Given the description of an element on the screen output the (x, y) to click on. 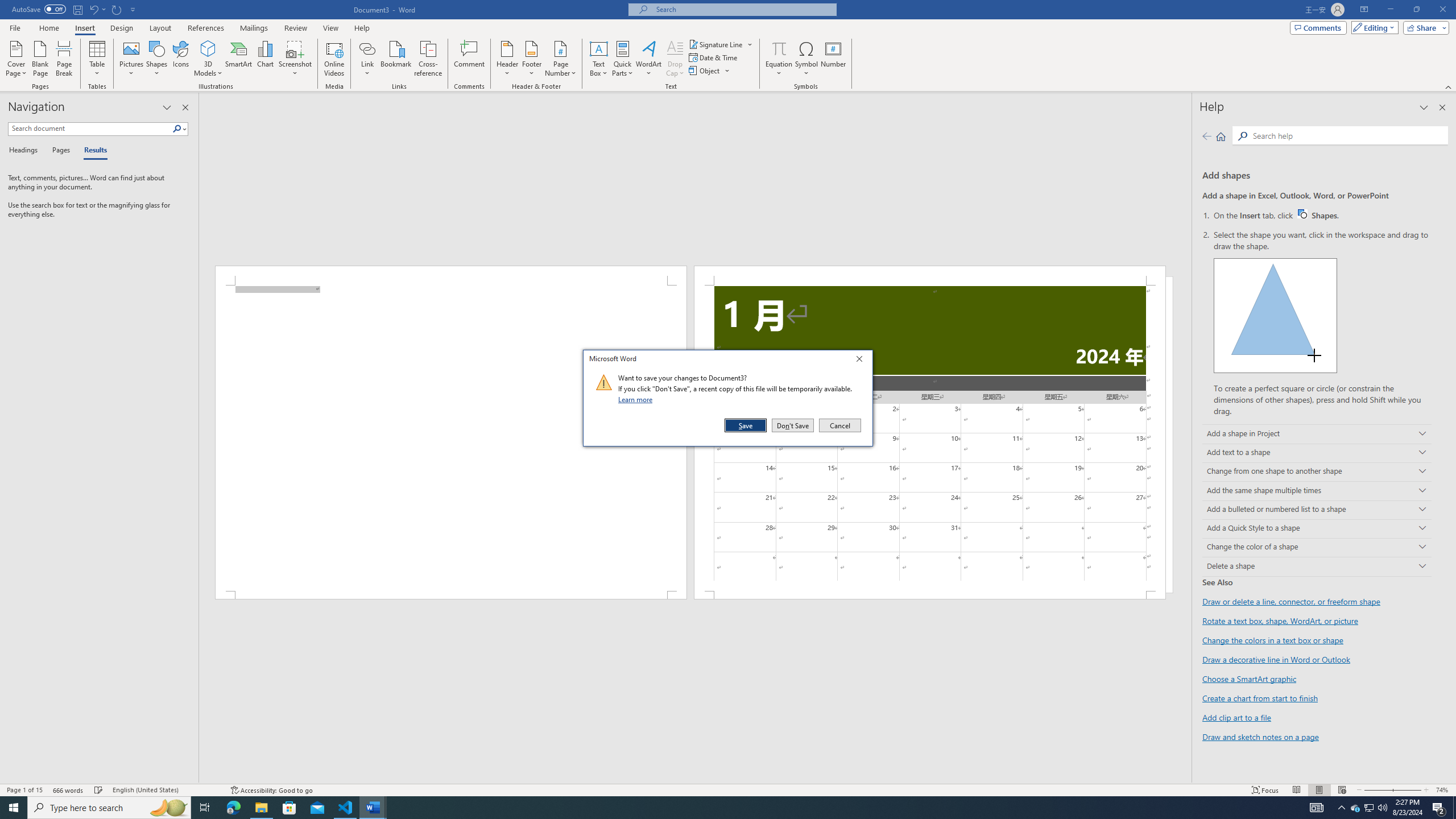
SmartArt... (238, 58)
WordArt (648, 58)
Chart... (265, 58)
Header (507, 58)
Q2790: 100% (1382, 807)
Table (97, 58)
Icons (180, 58)
Screenshot (295, 58)
Undo New Page (92, 9)
